Given the description of an element on the screen output the (x, y) to click on. 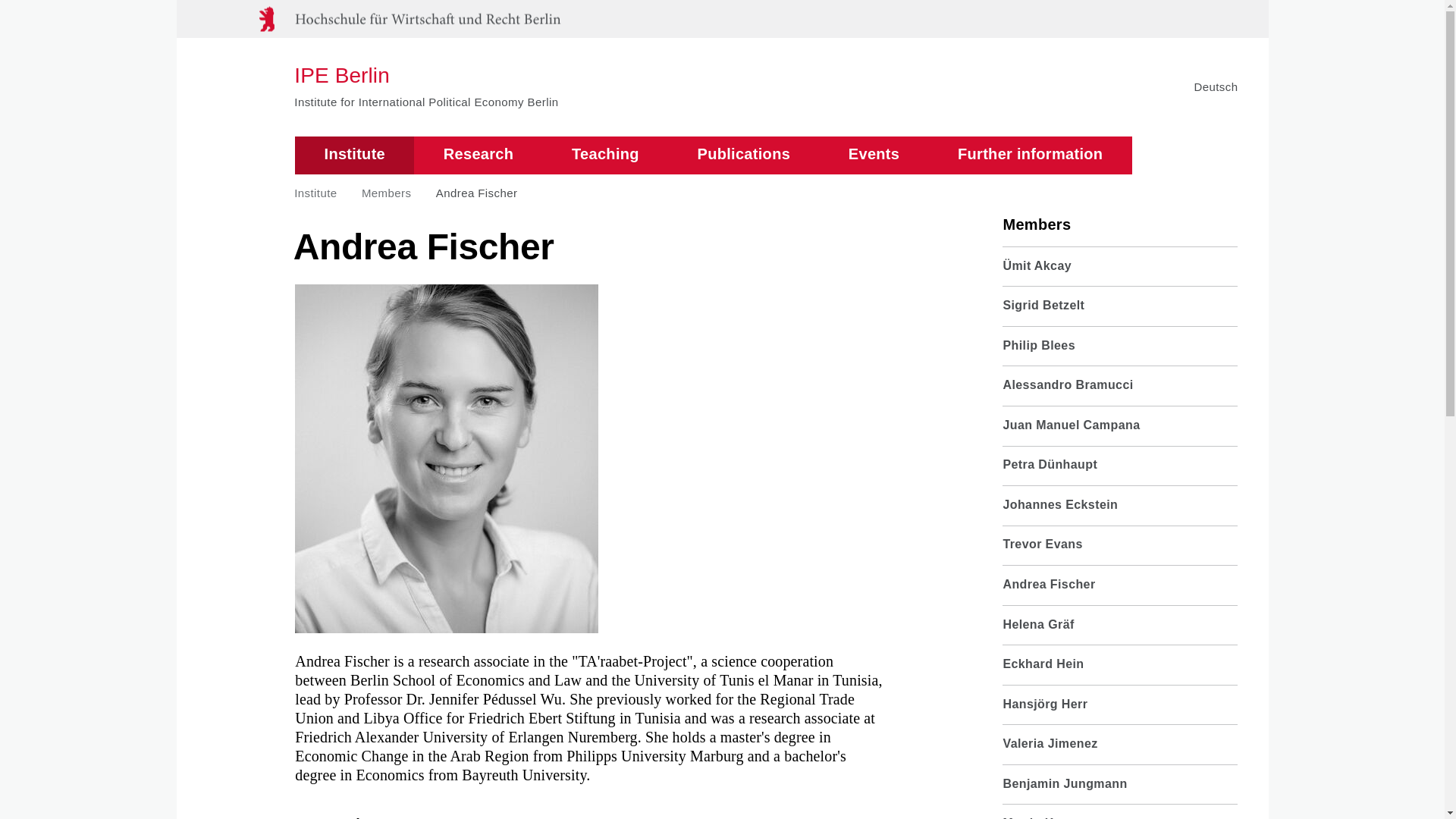
Deutsch (1215, 86)
IPE Berlin (425, 75)
